Given the description of an element on the screen output the (x, y) to click on. 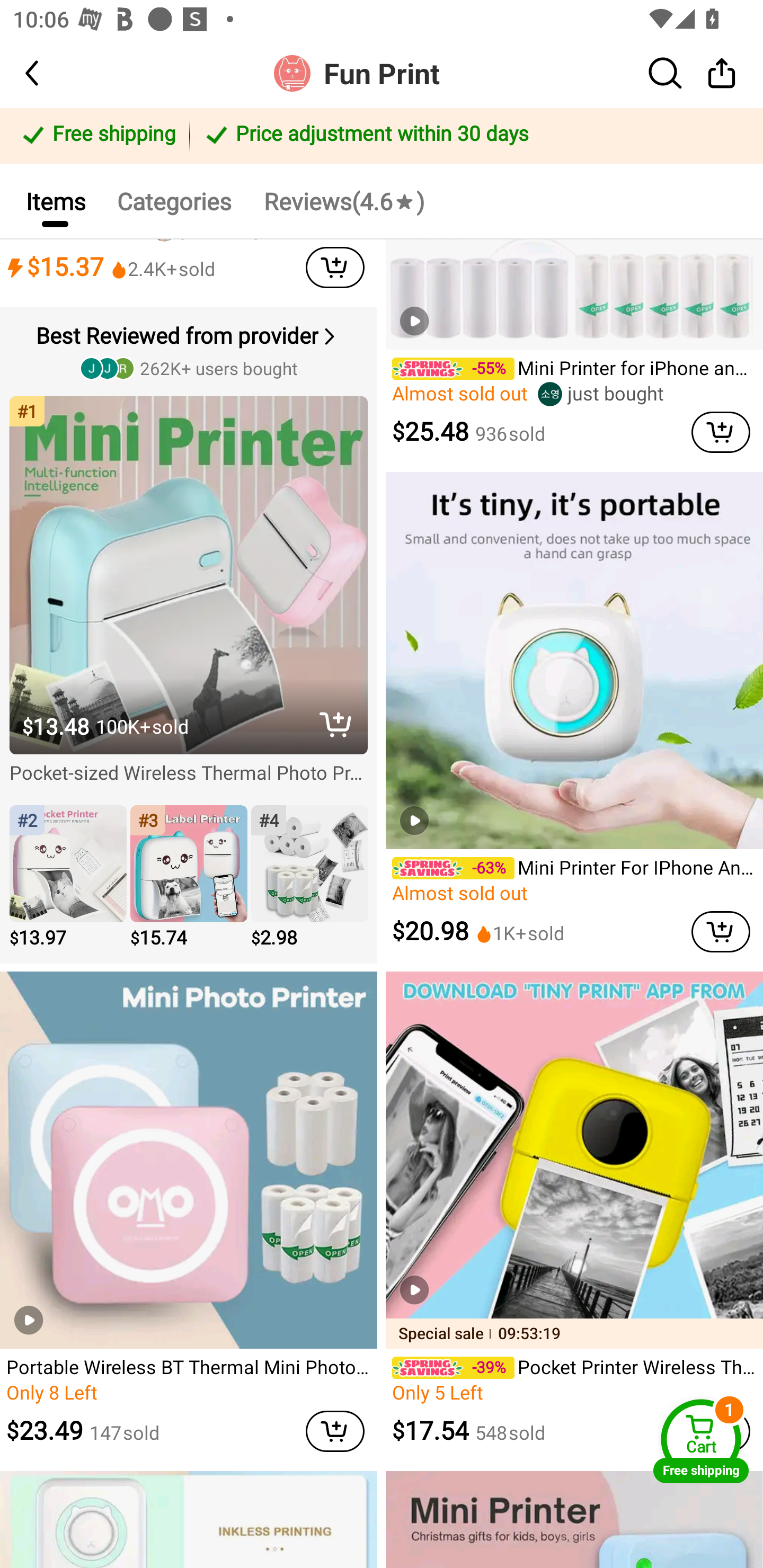
back (47, 72)
share (721, 72)
Free shipping (97, 135)
Price adjustment within 30 days (472, 135)
Items (55, 200)
Categories (174, 200)
Reviews(4.6 ) (343, 200)
cart delete (334, 267)
Best Reviewed from provider 262K+ users bought (190, 350)
cart delete (720, 431)
delete (335, 724)
#2 $13.97 (67, 877)
#3 $15.74 (188, 877)
#4 $2.98 (309, 877)
cart delete (720, 931)
Cart Free shipping Cart (701, 1440)
cart delete (334, 1431)
